Given the description of an element on the screen output the (x, y) to click on. 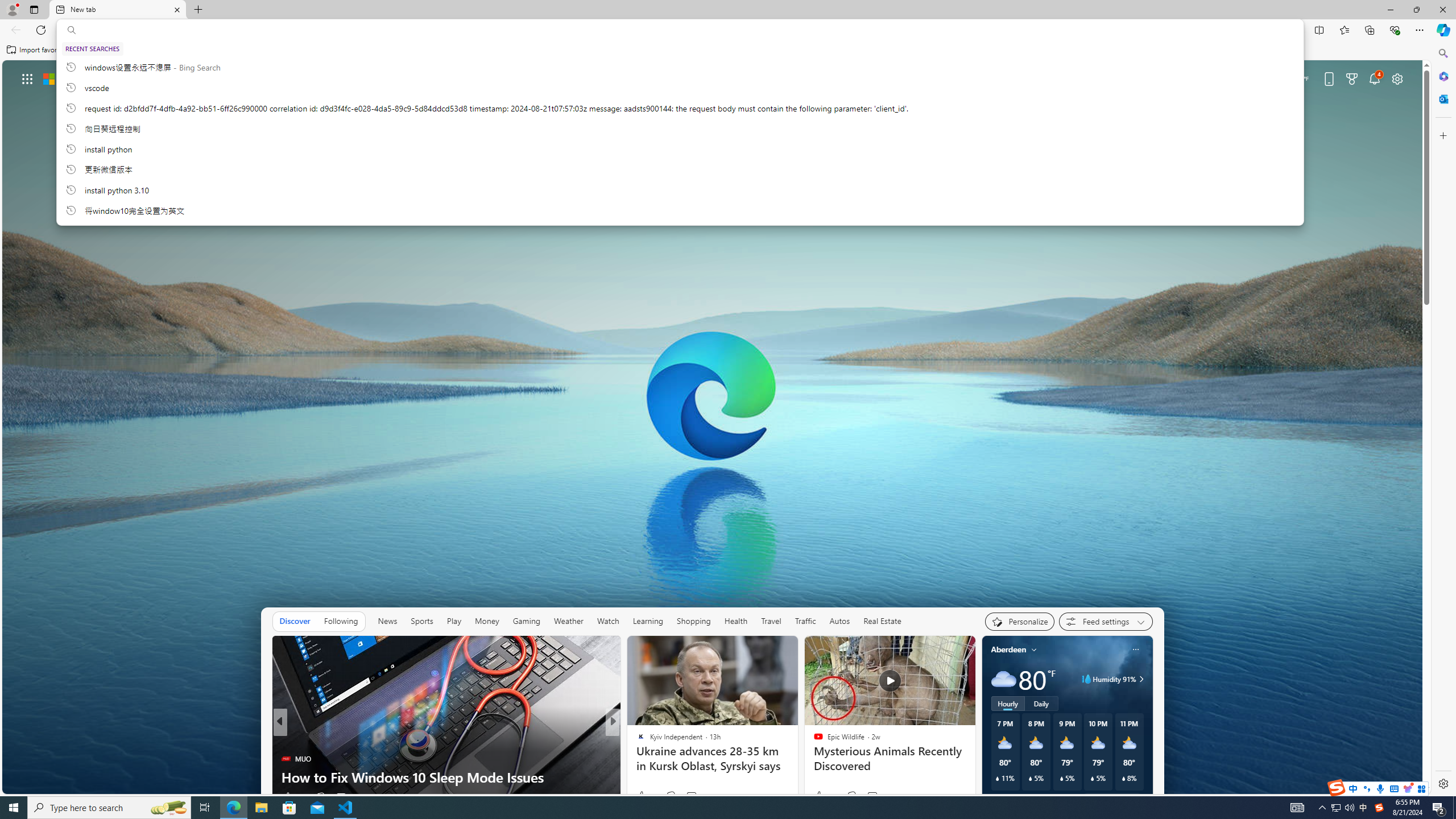
5 Like (639, 796)
View comments 89 Comment (696, 796)
Traffic (804, 621)
View comments 382 Comment (691, 797)
373 Like (824, 795)
53 Like (645, 795)
install python 3.10, recent searches from history (679, 189)
Health (735, 621)
Learning (648, 621)
IGN (635, 740)
